Given the description of an element on the screen output the (x, y) to click on. 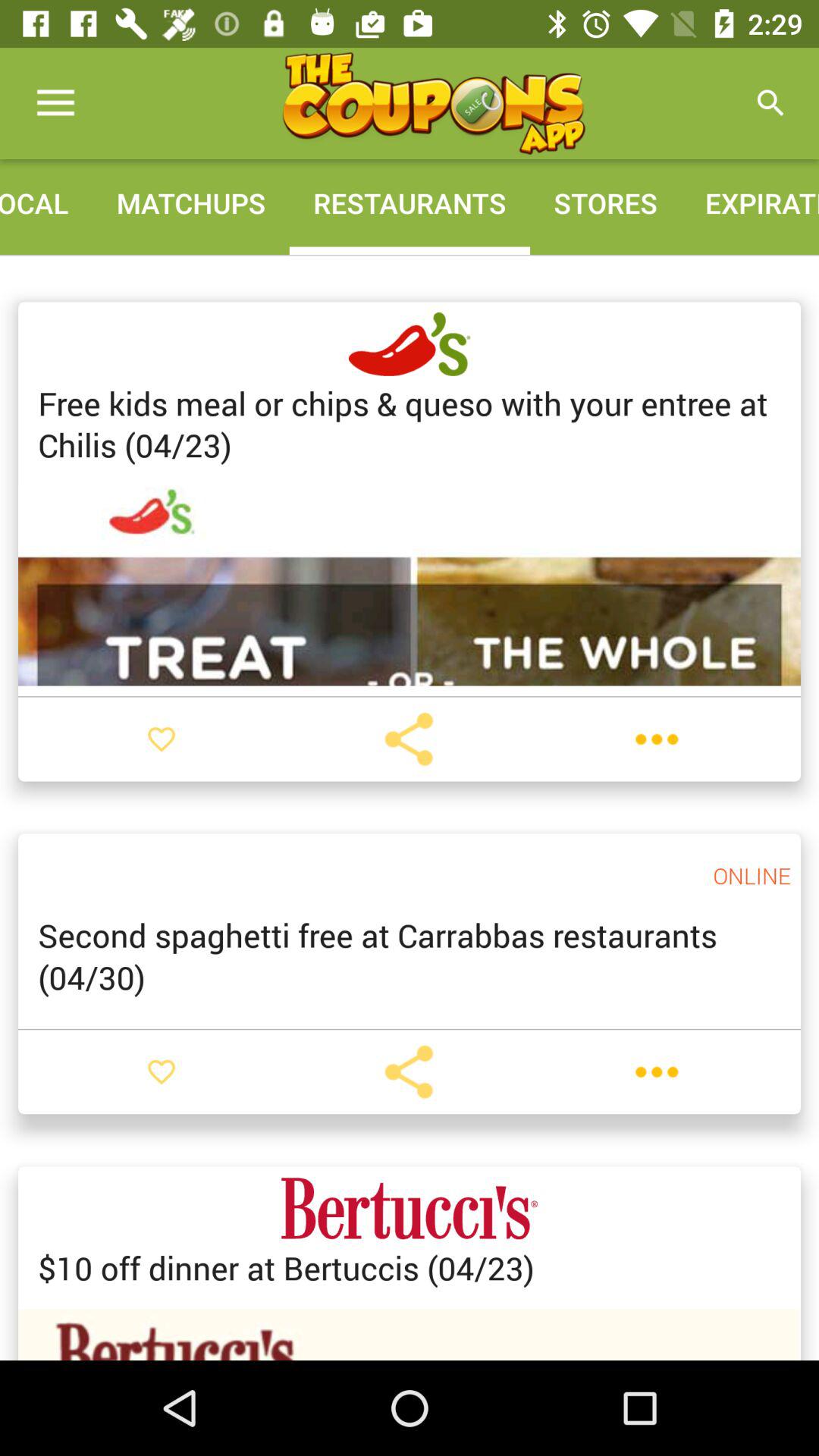
choose the local icon (46, 202)
